Given the description of an element on the screen output the (x, y) to click on. 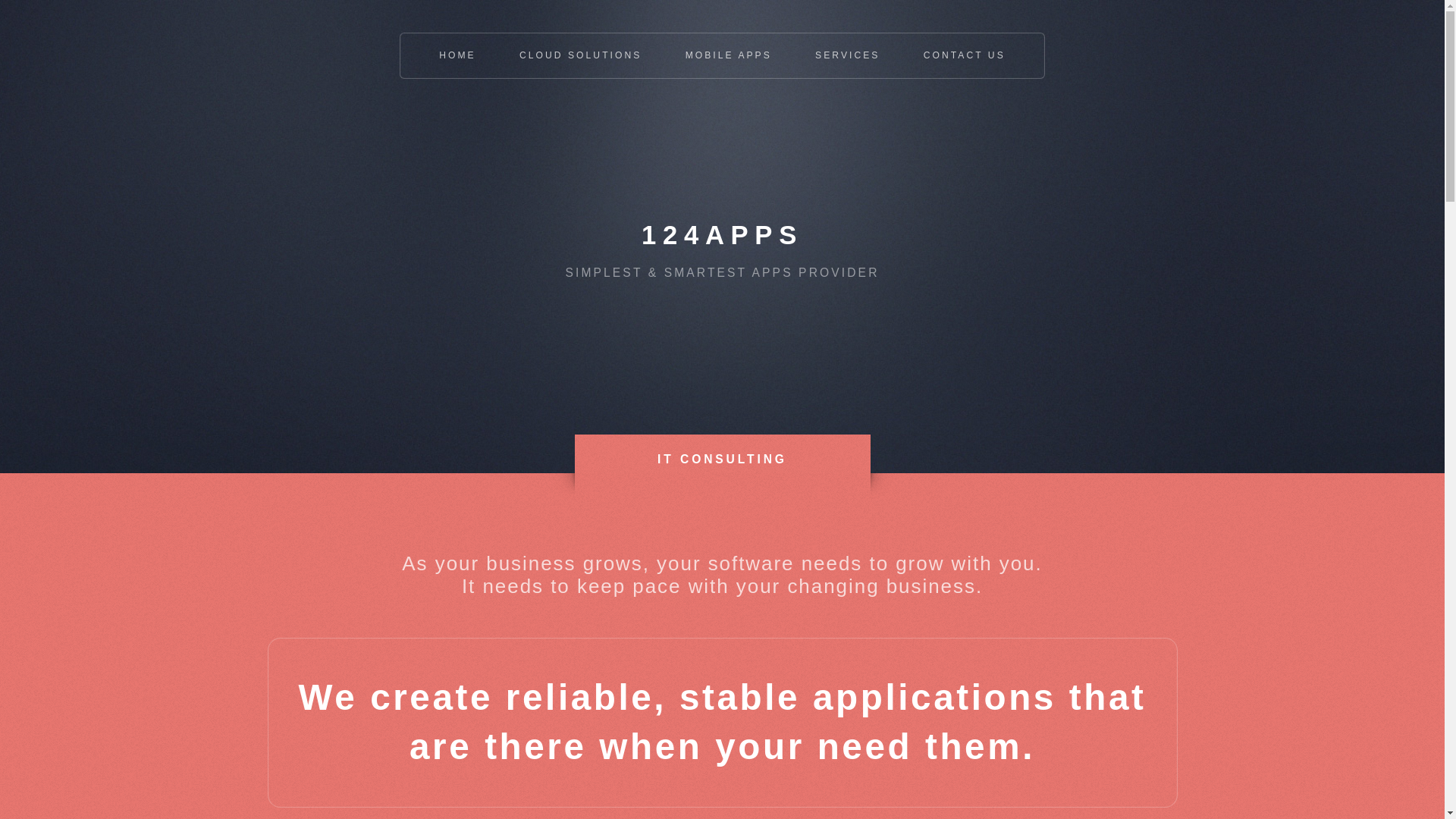
CONTACT US Element type: text (964, 55)
SERVICES Element type: text (847, 55)
124APPS Element type: text (722, 234)
CLOUD SOLUTIONS Element type: text (580, 55)
HOME Element type: text (457, 55)
MOBILE APPS Element type: text (728, 55)
